Given the description of an element on the screen output the (x, y) to click on. 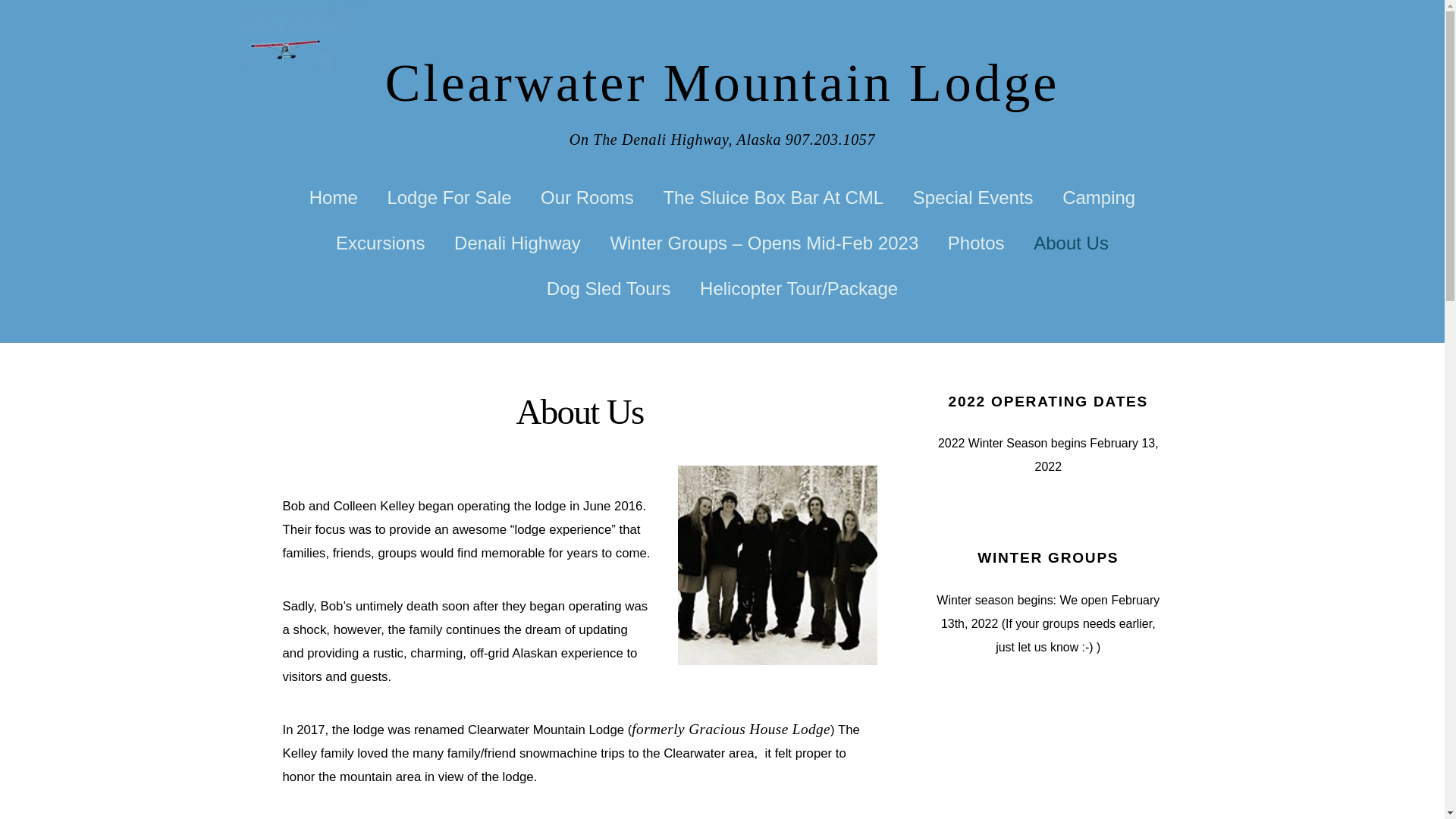
Lodge For Sale (449, 197)
Special Events (972, 197)
The Sluice Box Bar At CML (773, 197)
Camping (1098, 197)
Our Rooms (586, 197)
Denali Highway (516, 243)
Home (334, 197)
Excursions (380, 243)
Clearwater Mountain Lodge (722, 83)
About Us (1070, 243)
Photos (975, 243)
Clearwater Mountain Lodge (722, 83)
Dog Sled Tours (608, 289)
